Given the description of an element on the screen output the (x, y) to click on. 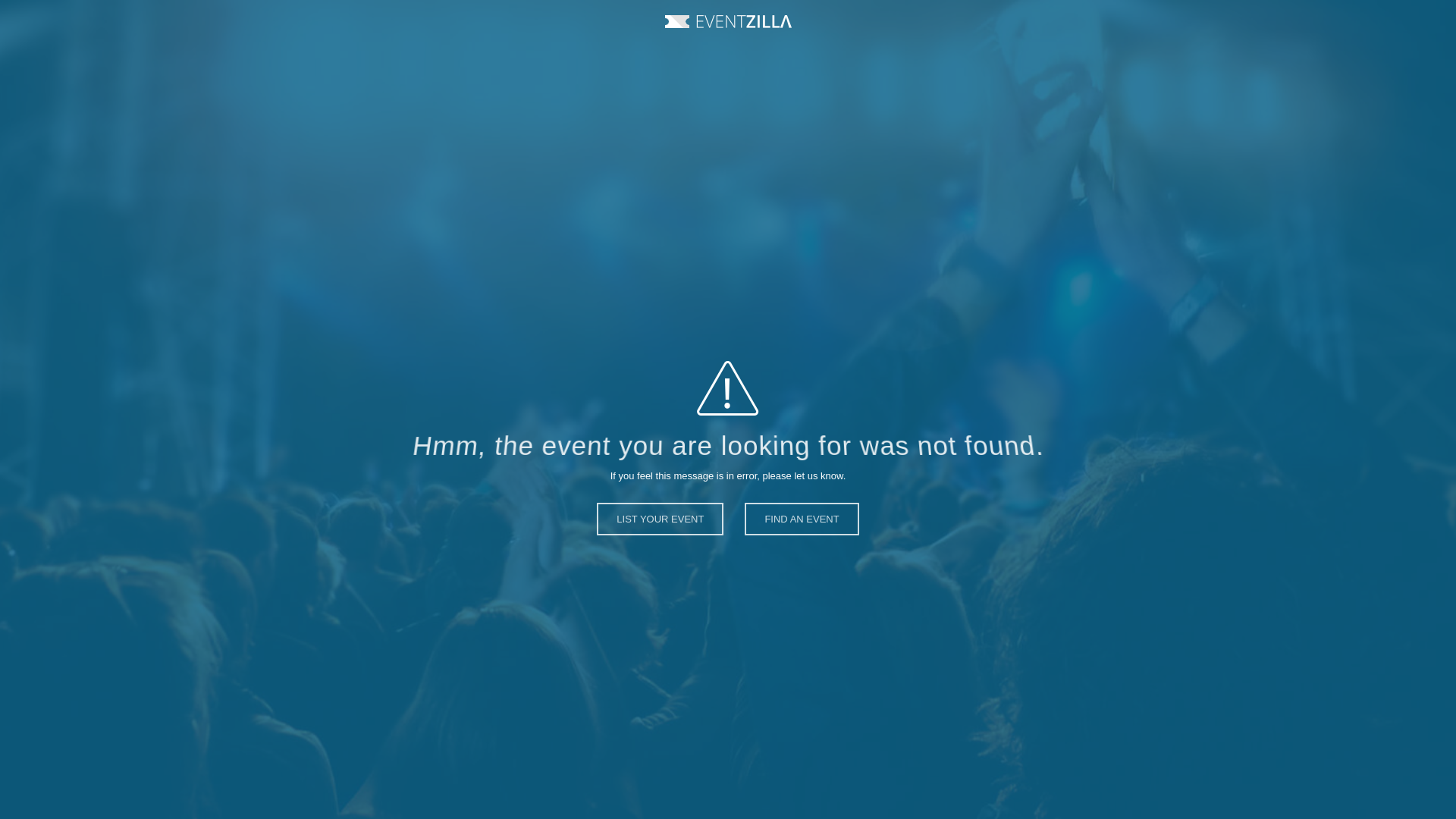
Eventzilla (726, 21)
Event Zilla (726, 21)
FIND AN EVENT (801, 532)
LIST YOUR EVENT (659, 532)
